Given the description of an element on the screen output the (x, y) to click on. 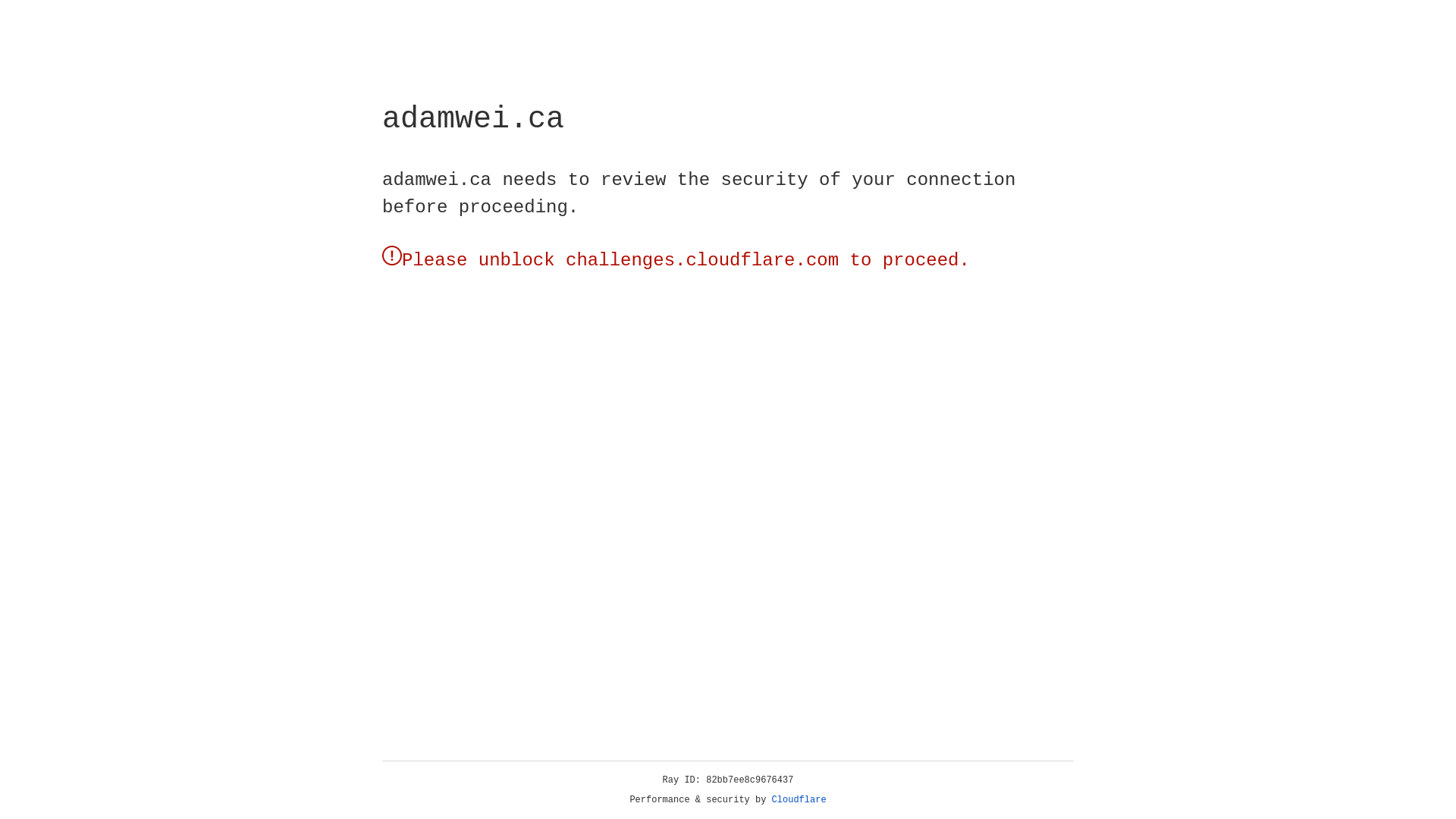
Cloudflare Element type: text (798, 799)
